Given the description of an element on the screen output the (x, y) to click on. 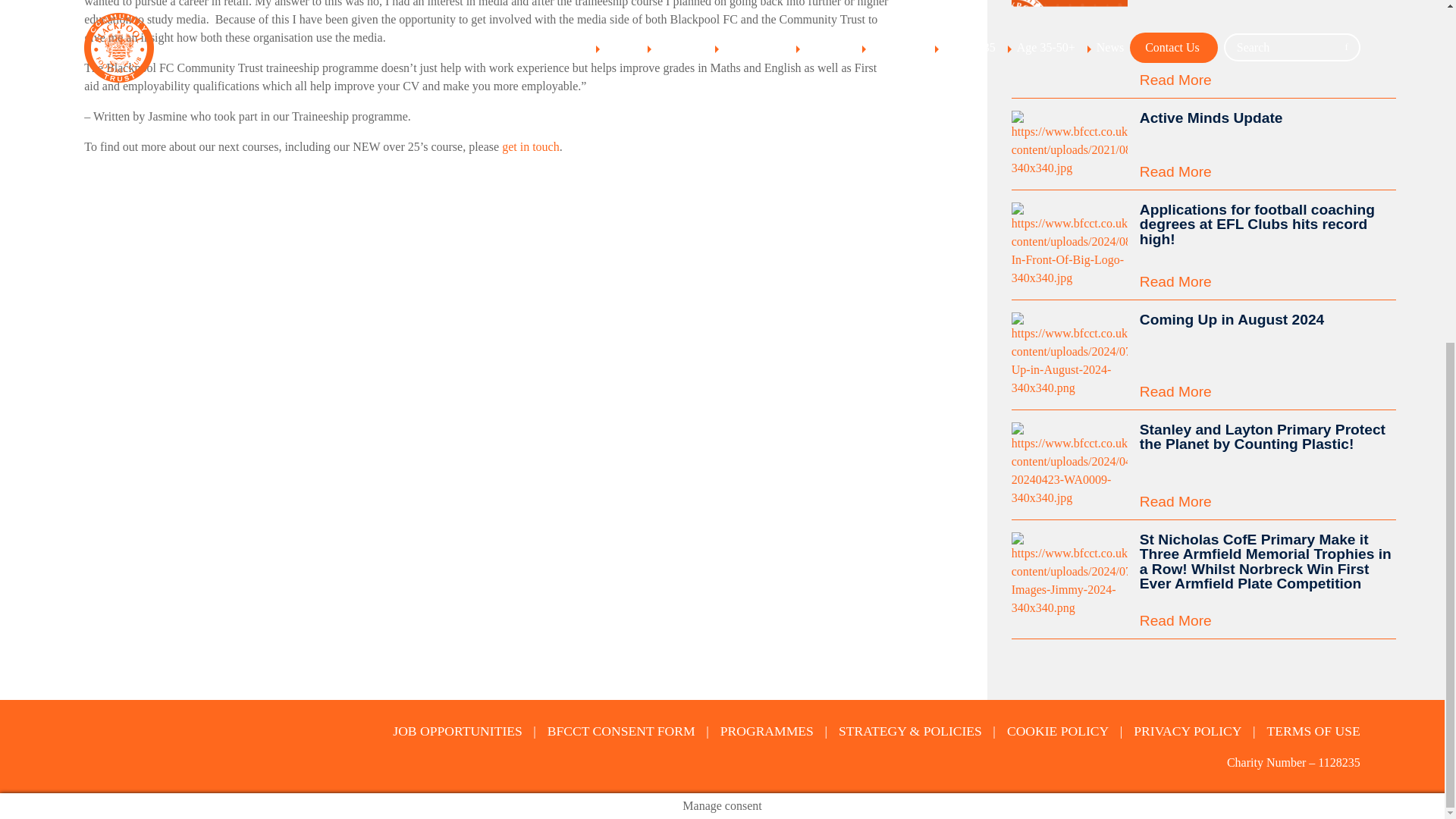
Coming Up in August 2024 (1268, 319)
Read More (1268, 281)
get in touch (530, 146)
Read More (1268, 171)
Read More (1268, 501)
Read More (1268, 391)
Active Minds Update (1268, 117)
Read More (1268, 79)
